Given the description of an element on the screen output the (x, y) to click on. 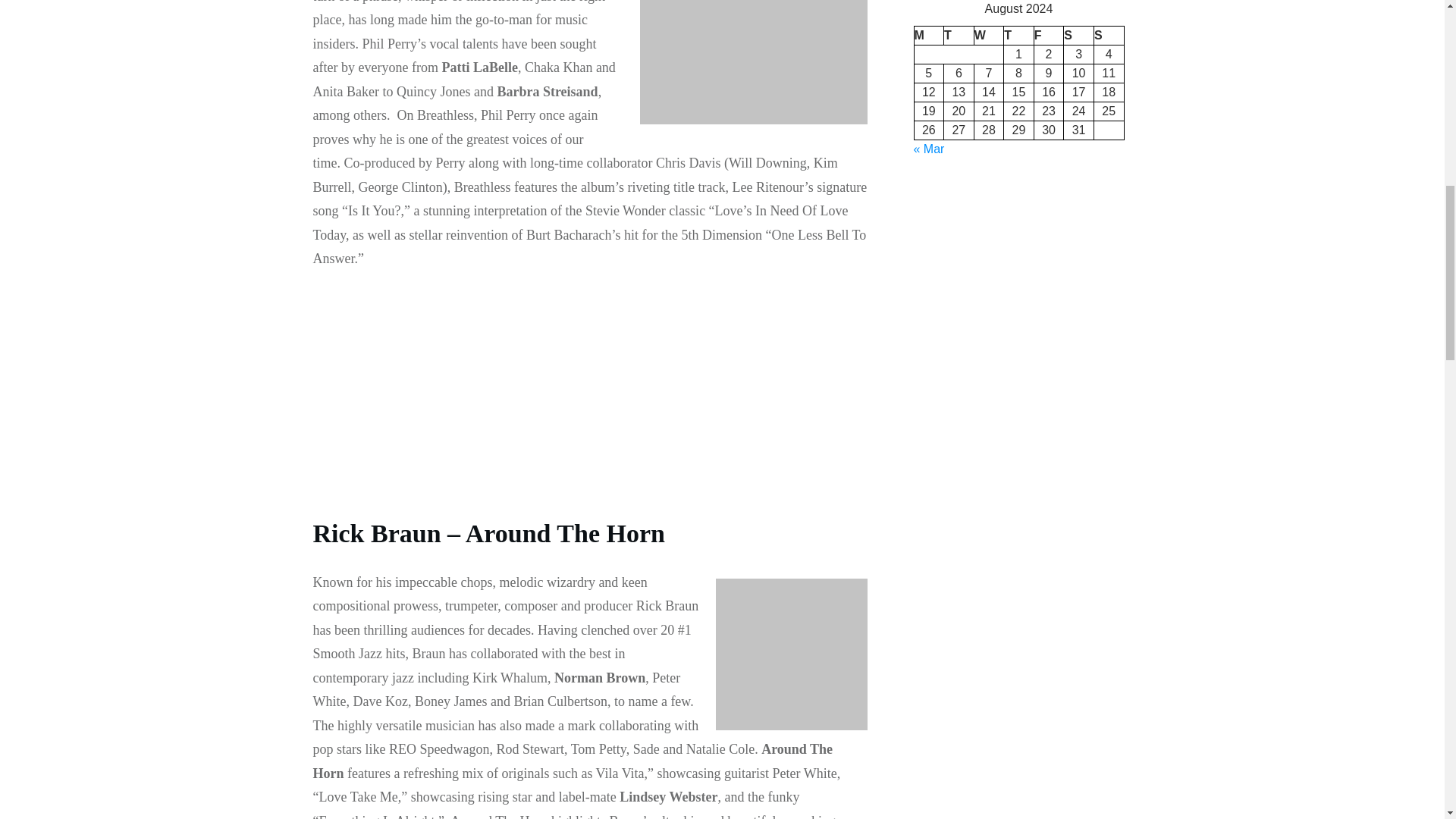
Thursday (1018, 35)
Tuesday (958, 35)
Wednesday (989, 35)
Friday (1048, 35)
Sunday (1108, 35)
Monday (928, 35)
Saturday (1079, 35)
